Given the description of an element on the screen output the (x, y) to click on. 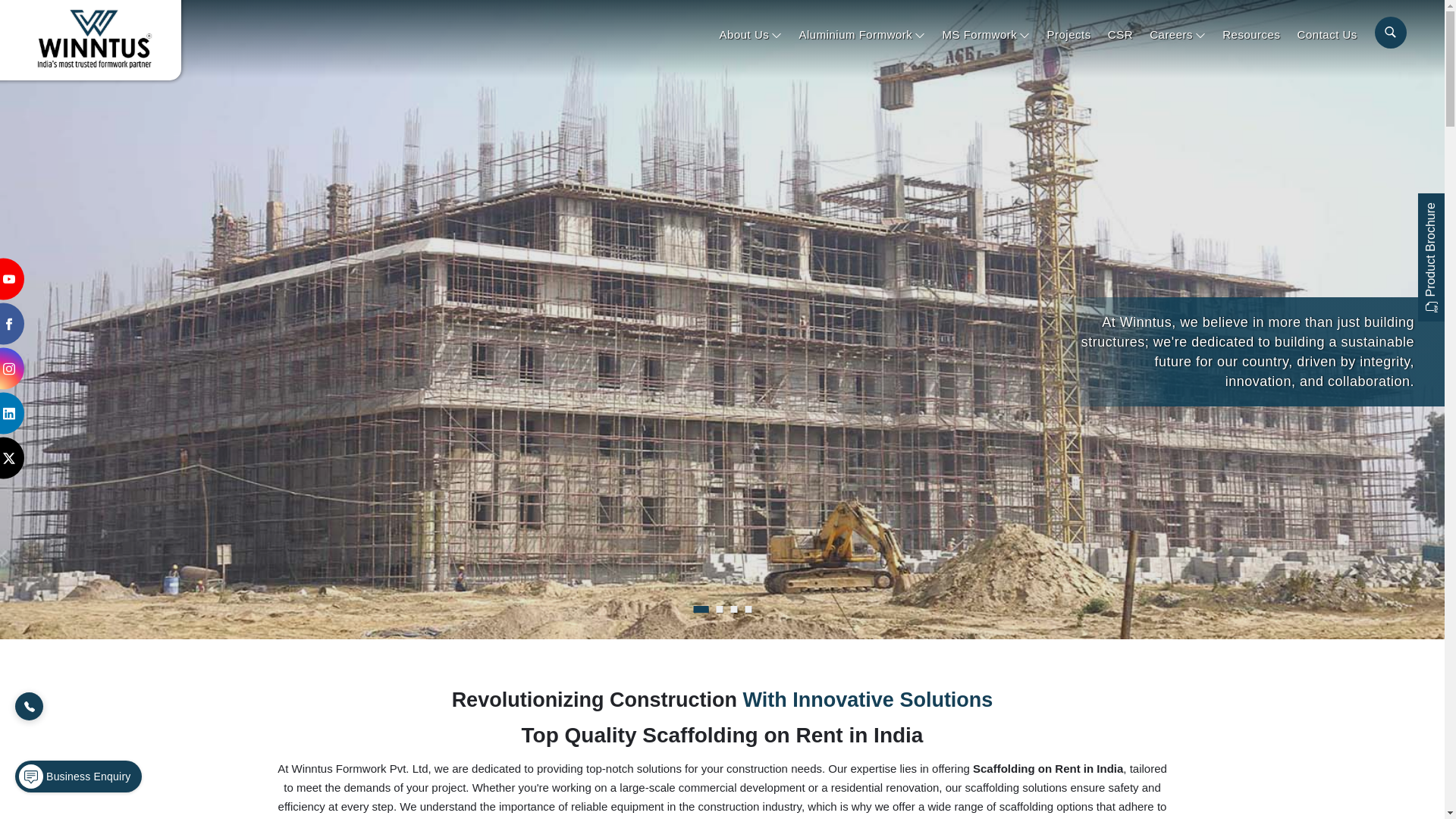
Contact Us (1327, 32)
Winntus Formwork System Pvt. Ltd. (94, 38)
MS Formwork (985, 32)
Projects (1069, 32)
MS Formwork (985, 32)
About Us (751, 32)
Resources (1251, 32)
Aluminium Formwork (861, 32)
About Us (751, 32)
Aluminium Formwork (861, 32)
